Given the description of an element on the screen output the (x, y) to click on. 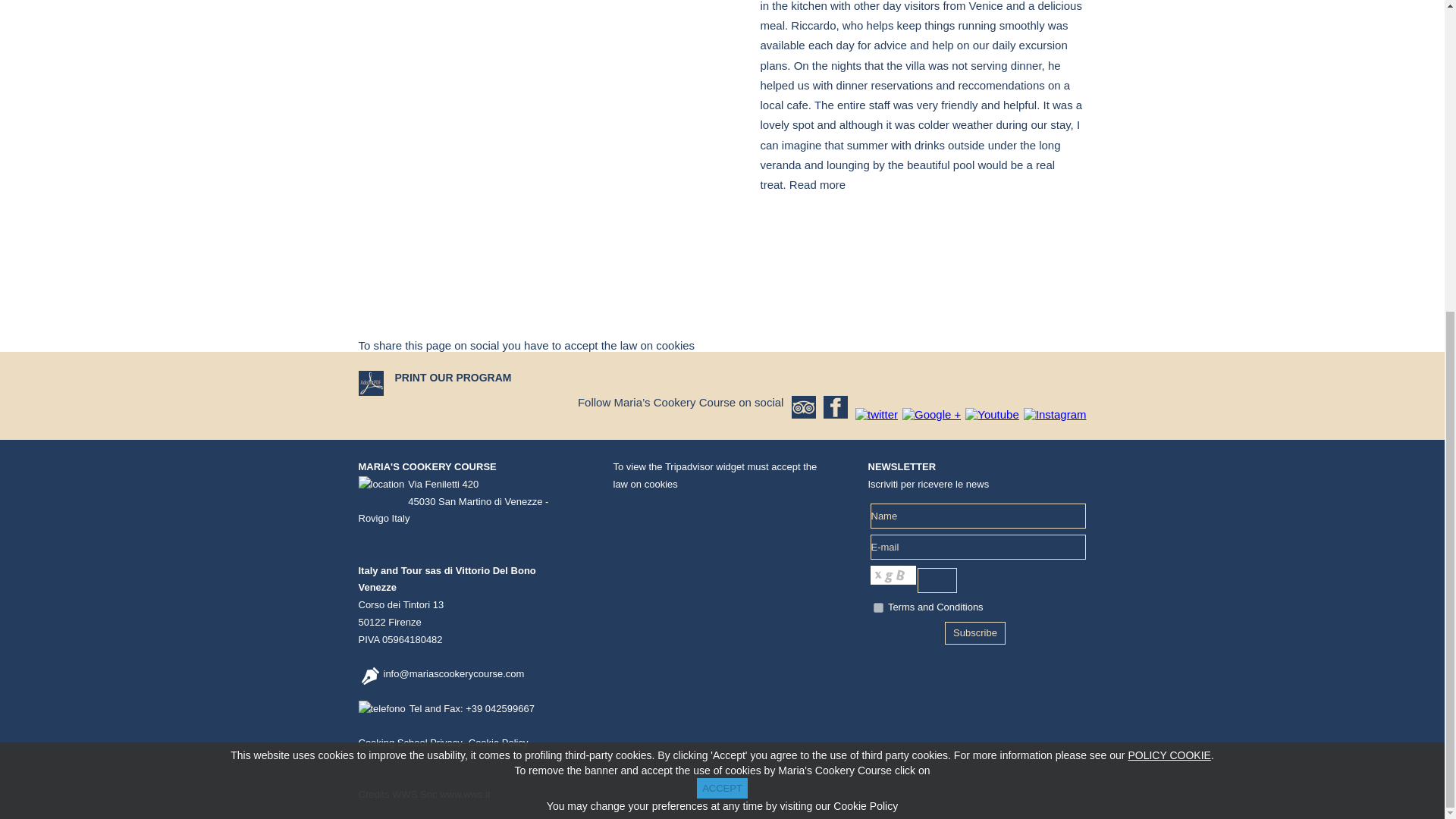
POLICY COOKIE (1167, 258)
www.wws.it (464, 794)
ACCEPT (722, 291)
Terms and Conditions (936, 606)
informativa Cookie (1167, 258)
Cooking School Privacy (409, 742)
Terms and Conditions (936, 606)
Name (978, 515)
Please enter the security code displayed in the image (936, 580)
Subscribe (975, 632)
Read more (817, 184)
Please enter the security code displayed in the image (892, 574)
Cookie Policy (498, 742)
PRINT OUR PROGRAM (452, 377)
E-mail (978, 546)
